Given the description of an element on the screen output the (x, y) to click on. 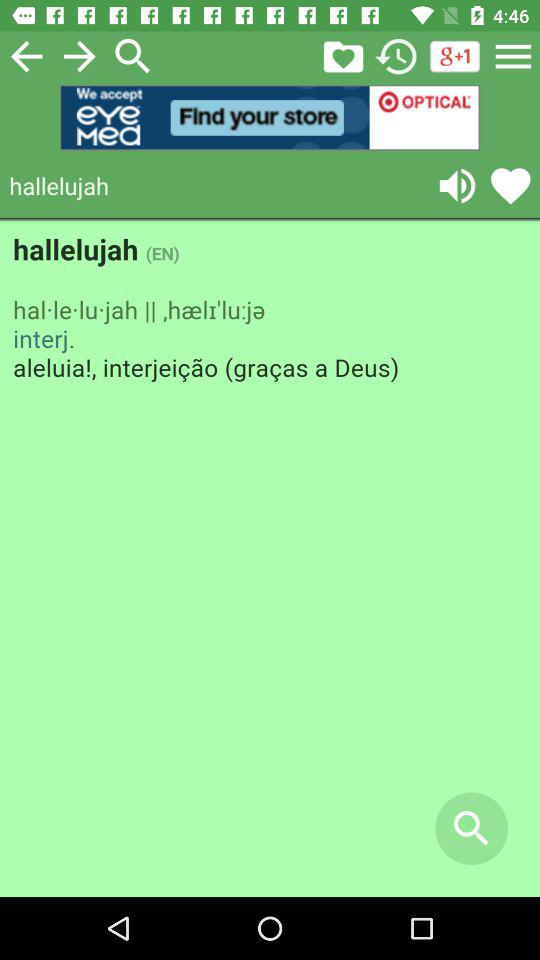
search (133, 56)
